Given the description of an element on the screen output the (x, y) to click on. 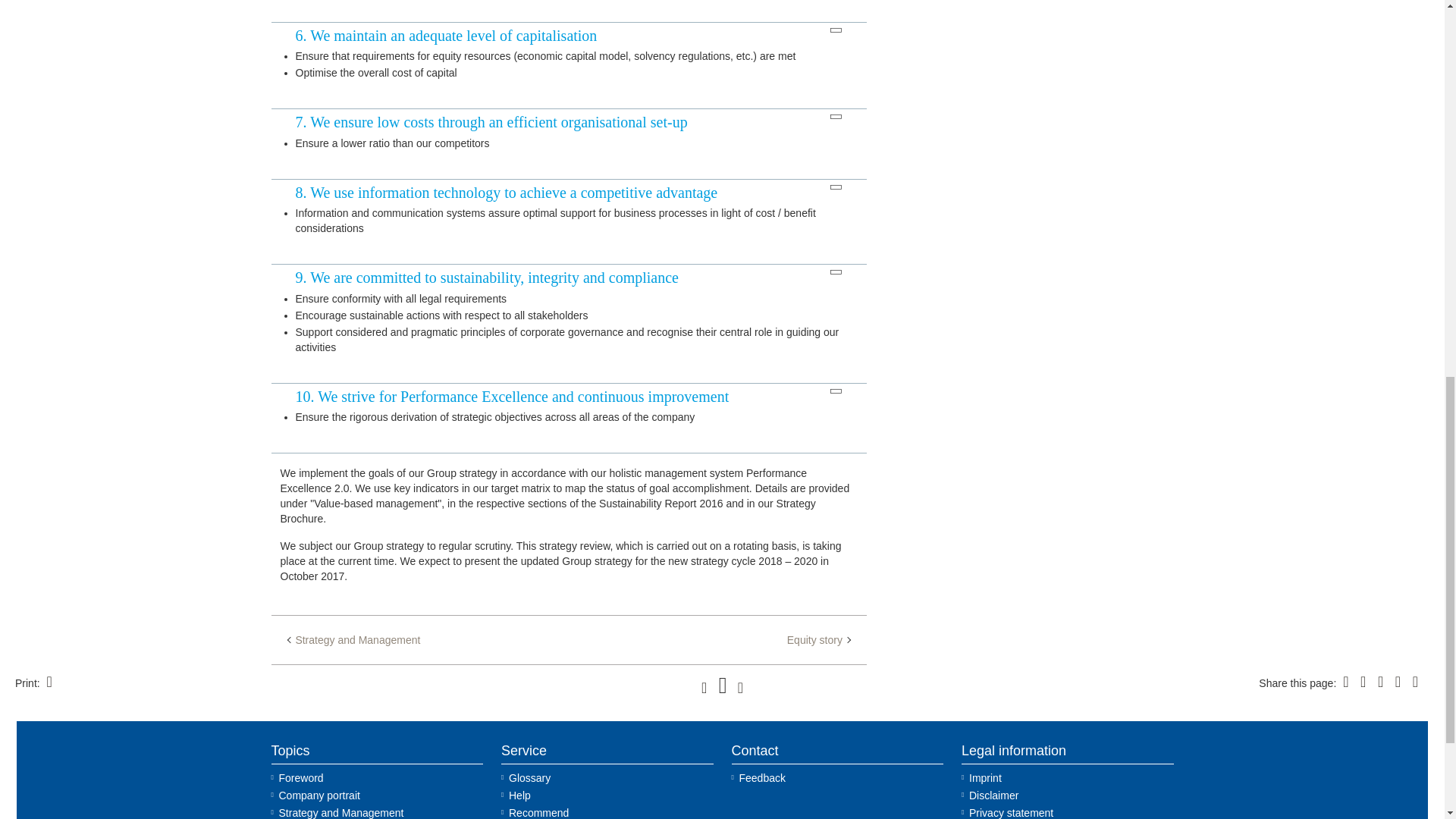
Equity story (818, 639)
Strategy and Management (354, 639)
